Given the description of an element on the screen output the (x, y) to click on. 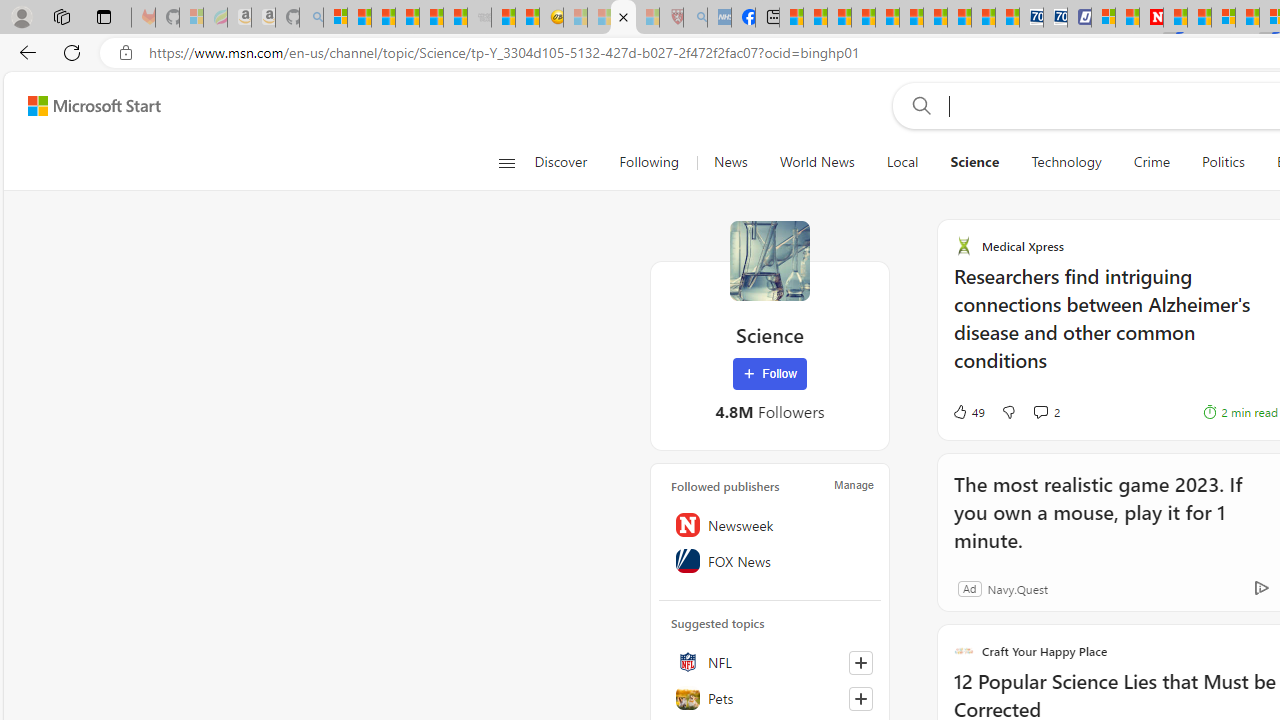
12 Popular Science Lies that Must be Corrected - Sleeping (647, 17)
